Given the description of an element on the screen output the (x, y) to click on. 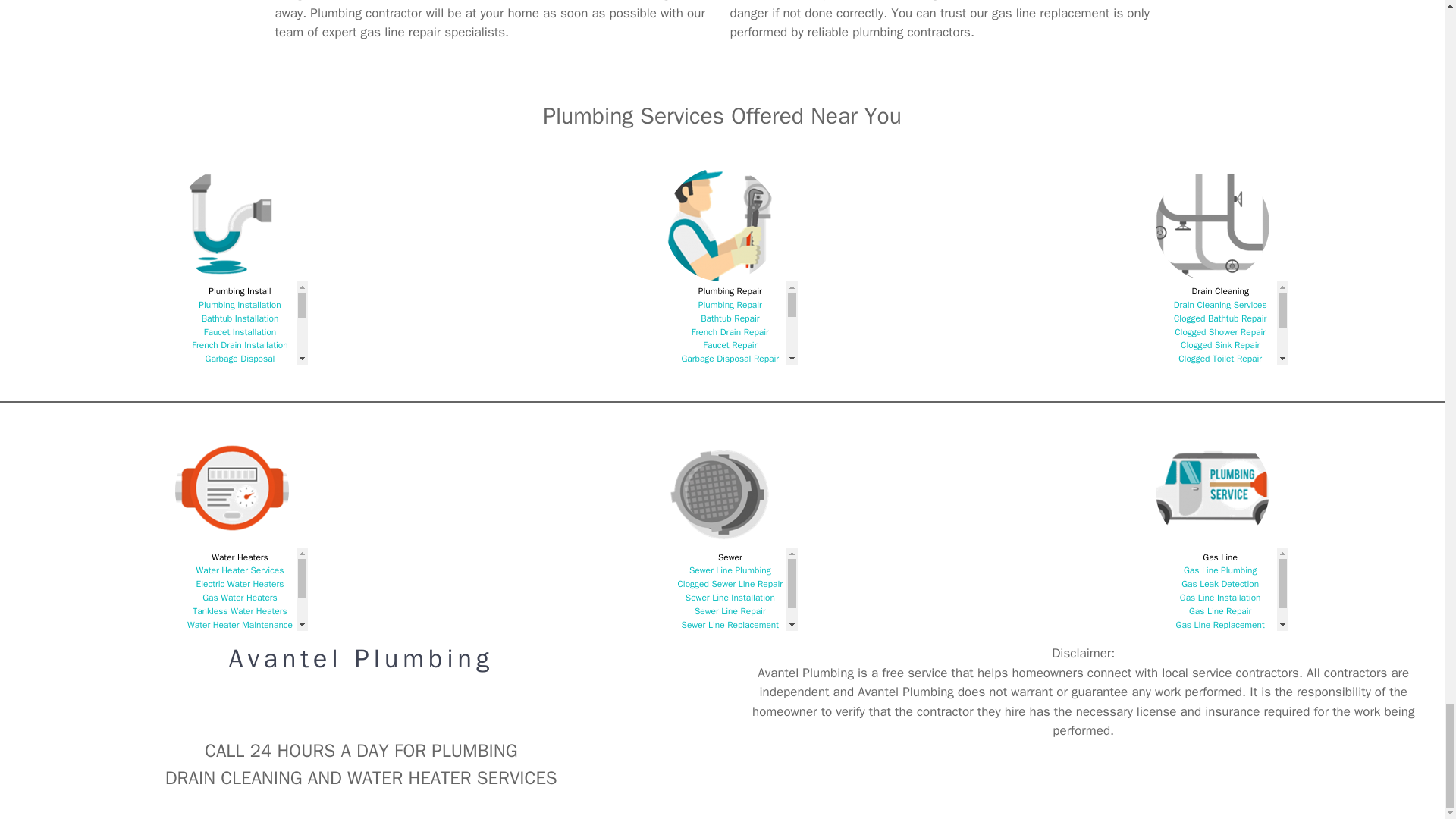
CALL US TODAY (361, 713)
